Given the description of an element on the screen output the (x, y) to click on. 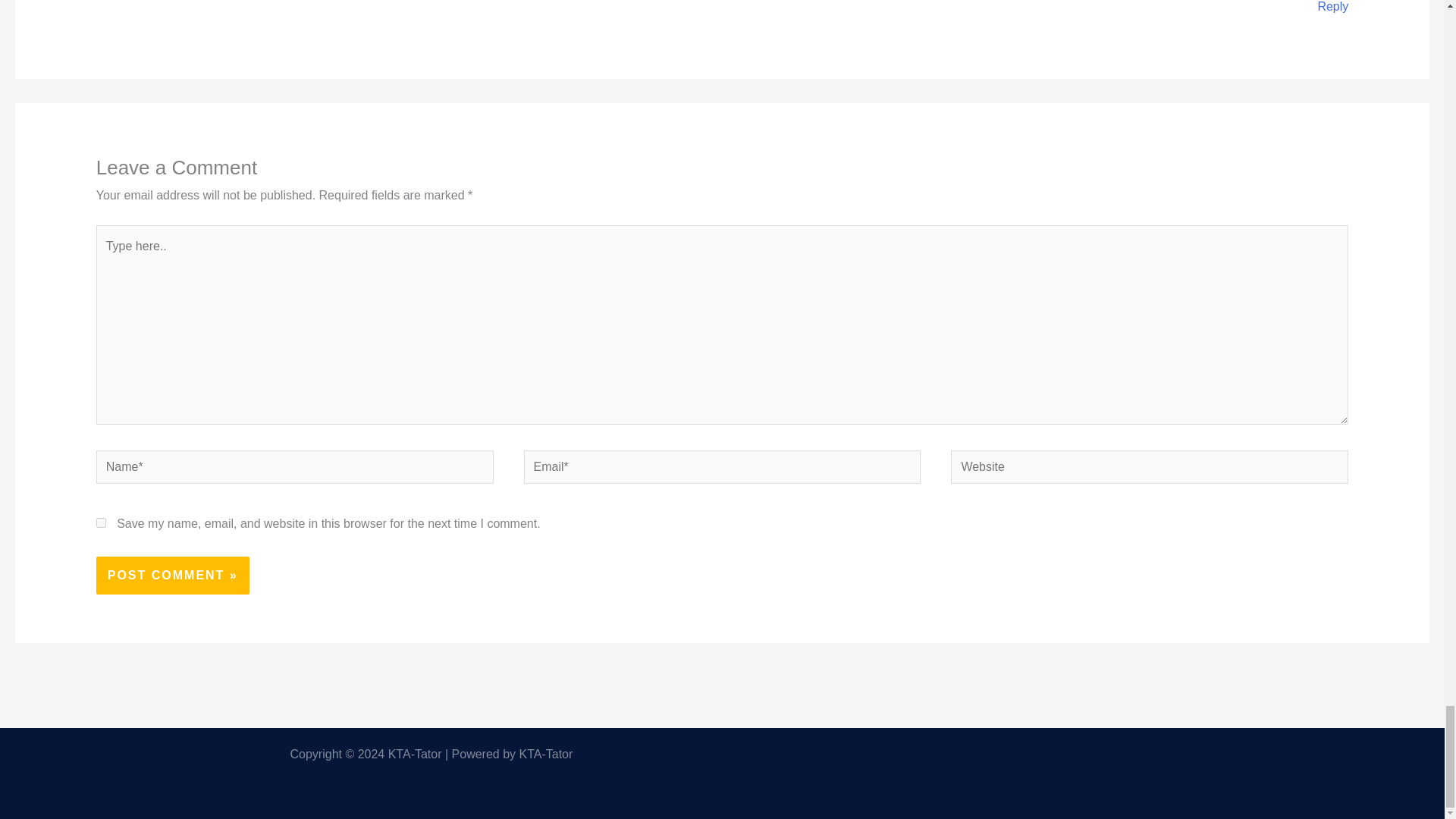
yes (101, 522)
